Given the description of an element on the screen output the (x, y) to click on. 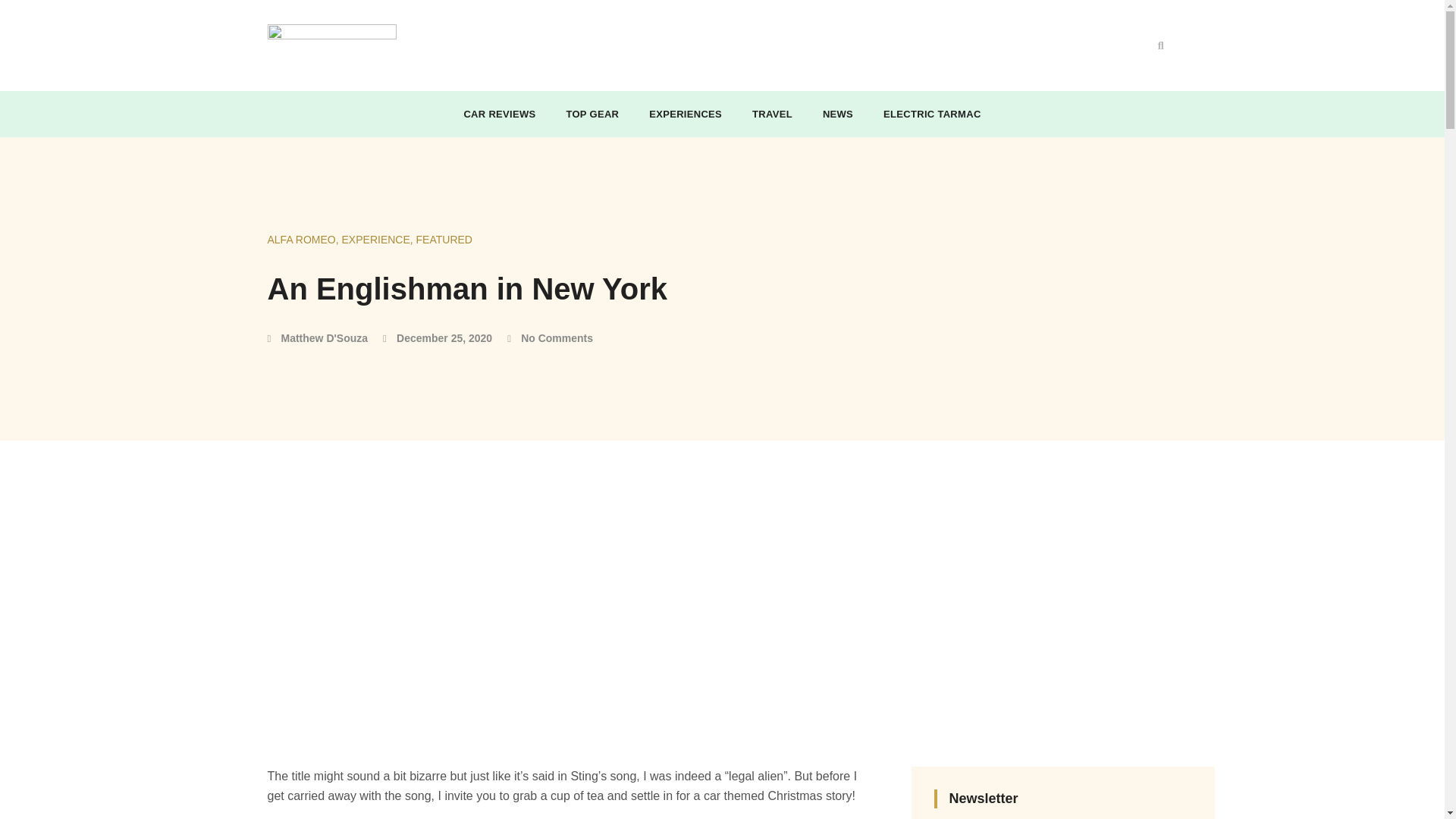
TRAVEL (771, 113)
Matthew D'Souza (317, 337)
CAR REVIEWS (499, 113)
EXPERIENCES (685, 113)
ALFA ROMEO (300, 239)
ELECTRIC TARMAC (932, 113)
TOP GEAR (591, 113)
No Comments (549, 337)
EXPERIENCE (376, 239)
December 25, 2020 (437, 337)
Advertisement (687, 42)
NEWS (837, 113)
FEATURED (443, 239)
